Given the description of an element on the screen output the (x, y) to click on. 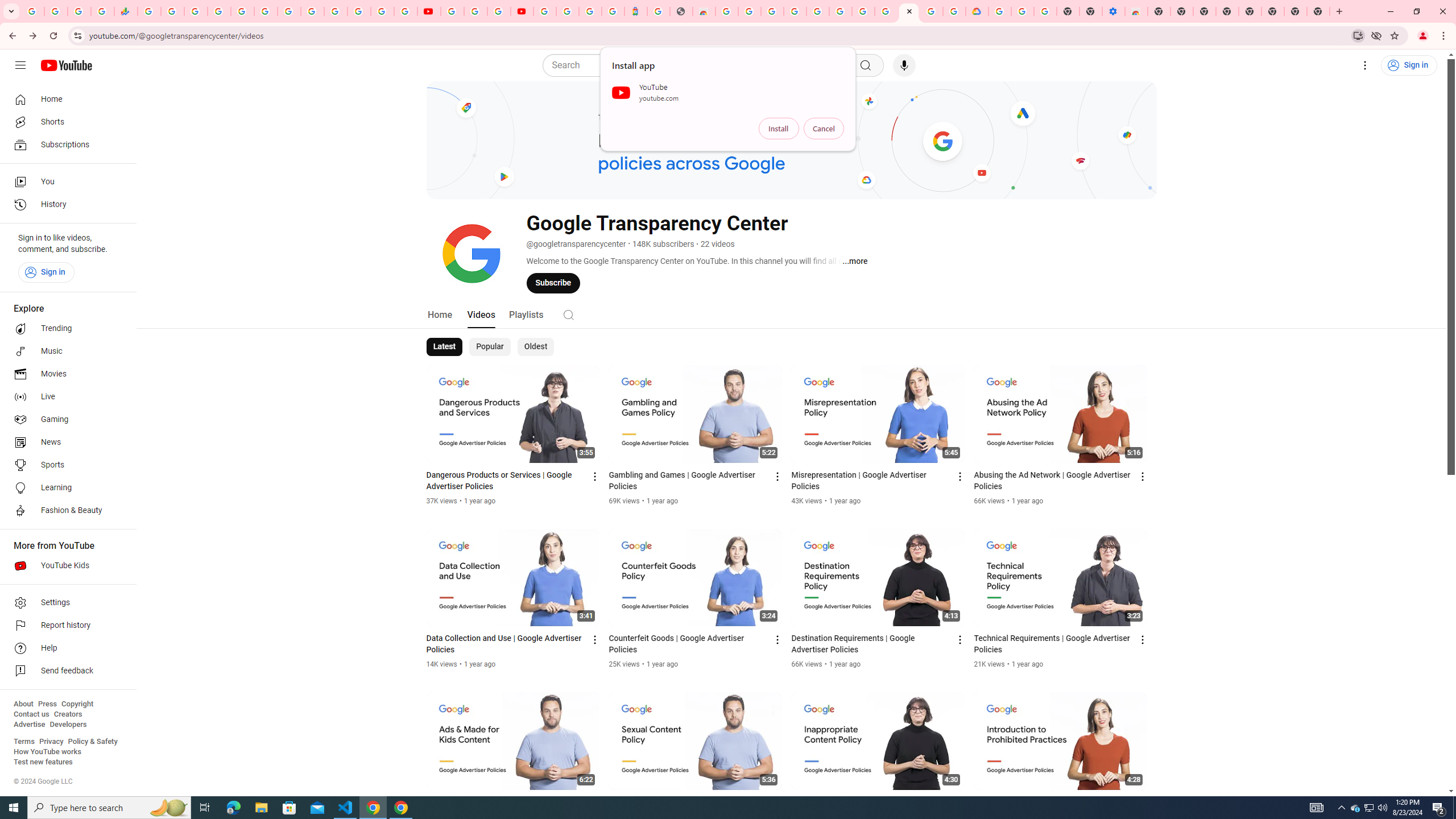
Android TV Policies and Guidelines - Transparency Center (885, 11)
Policy & Safety (91, 741)
Latest (444, 346)
Guide (20, 65)
Sign in - Google Accounts (999, 11)
Sign in - Google Accounts (218, 11)
Sign in - Google Accounts (381, 11)
YouTube (451, 11)
Subscriptions (64, 144)
Trending (64, 328)
Chrome Web Store - Household (703, 11)
